Given the description of an element on the screen output the (x, y) to click on. 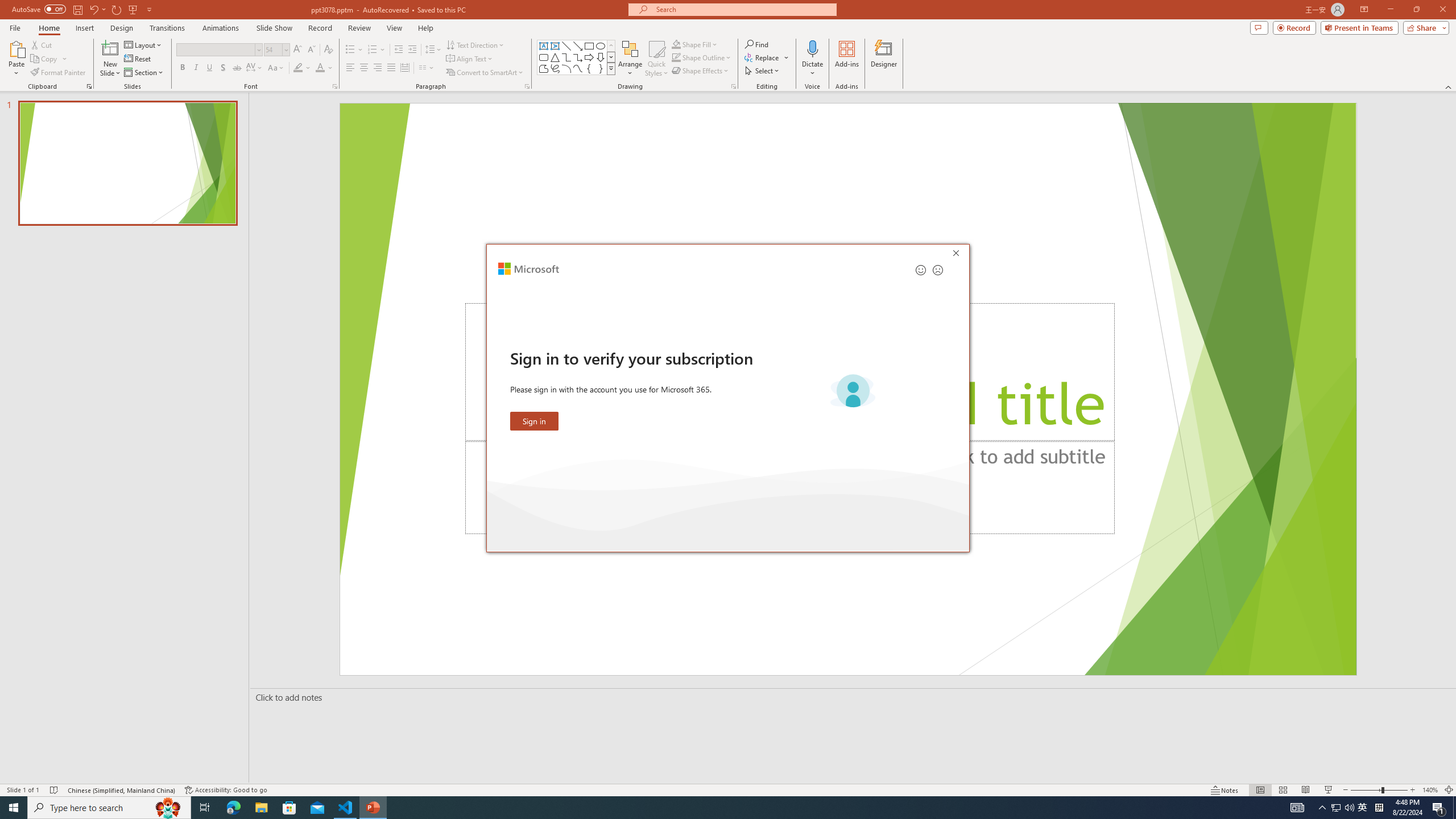
Microsoft Edge (233, 807)
Find... (756, 44)
Text Direction (476, 44)
Accessibility Checker Accessibility: Good to go (226, 790)
